Given the description of an element on the screen output the (x, y) to click on. 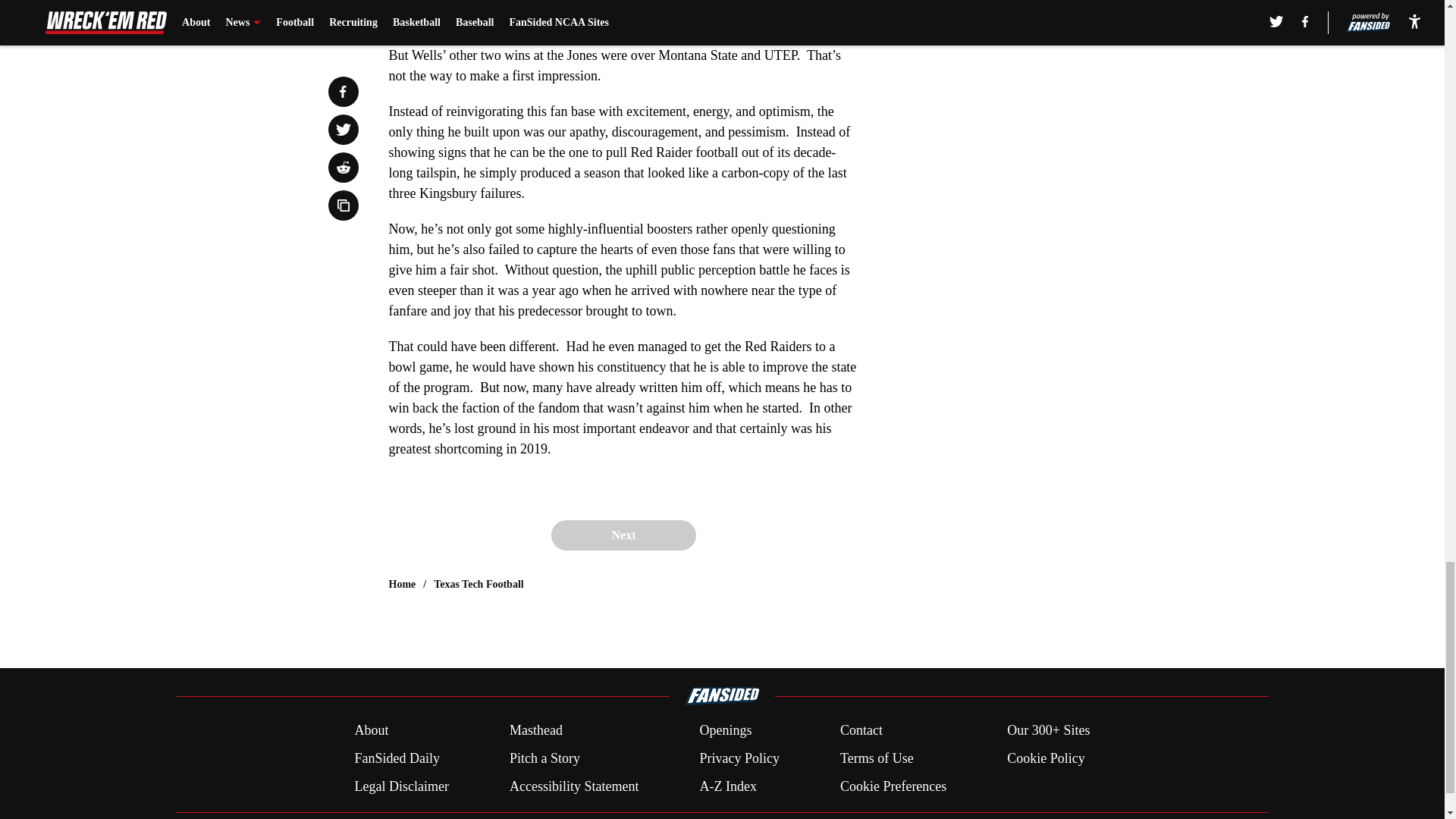
Openings (724, 730)
Texas Tech Football (478, 584)
About (370, 730)
Masthead (535, 730)
Next (622, 535)
FanSided Daily (396, 758)
Home (401, 584)
Contact (861, 730)
